Given the description of an element on the screen output the (x, y) to click on. 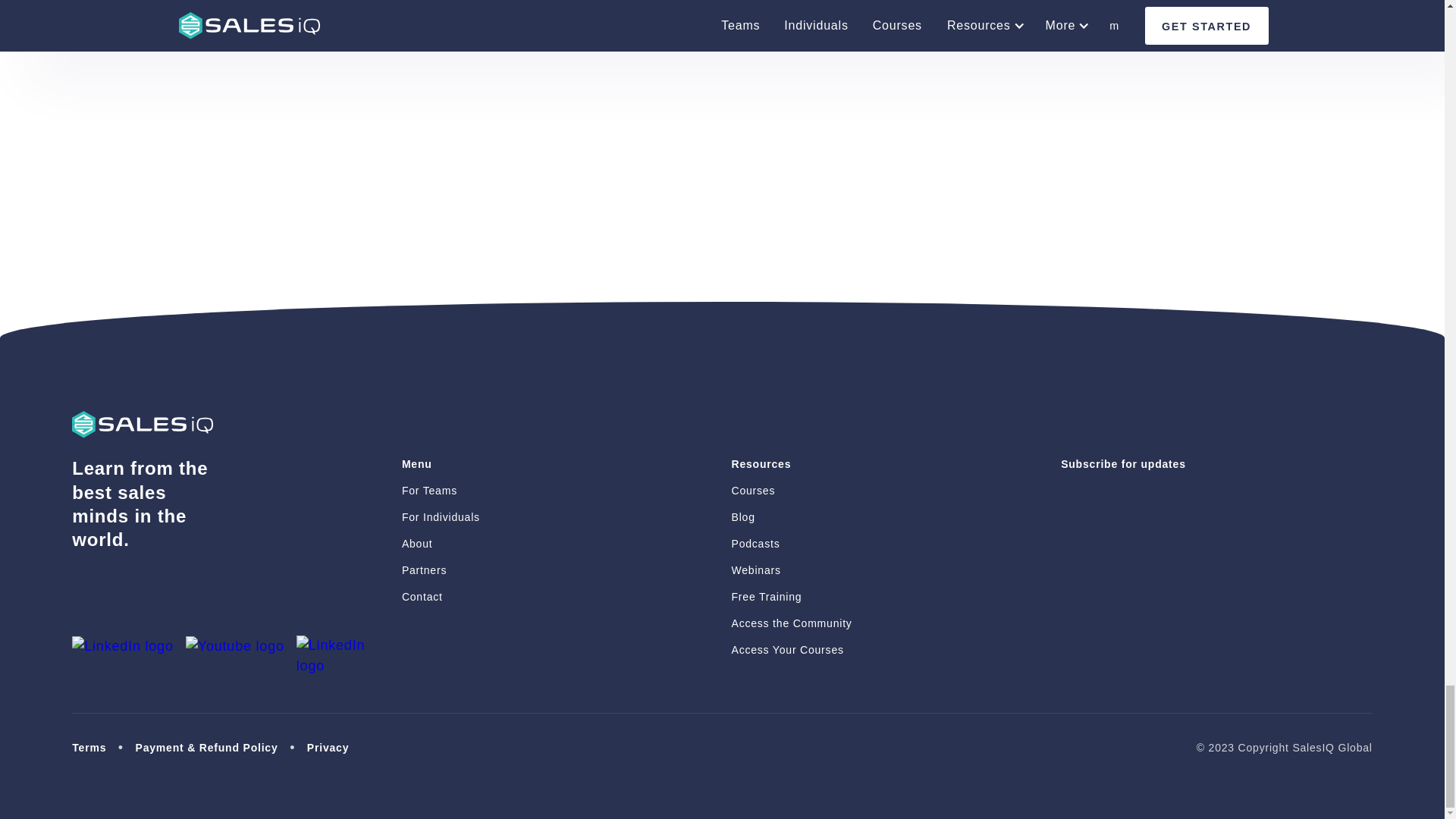
For Individuals (440, 517)
Webinars (790, 570)
About (440, 544)
Free Training (790, 596)
Podcasts (790, 544)
Courses (790, 490)
Contact (440, 596)
Access the Community (790, 623)
Blog (790, 517)
Access Your Courses (790, 650)
